Given the description of an element on the screen output the (x, y) to click on. 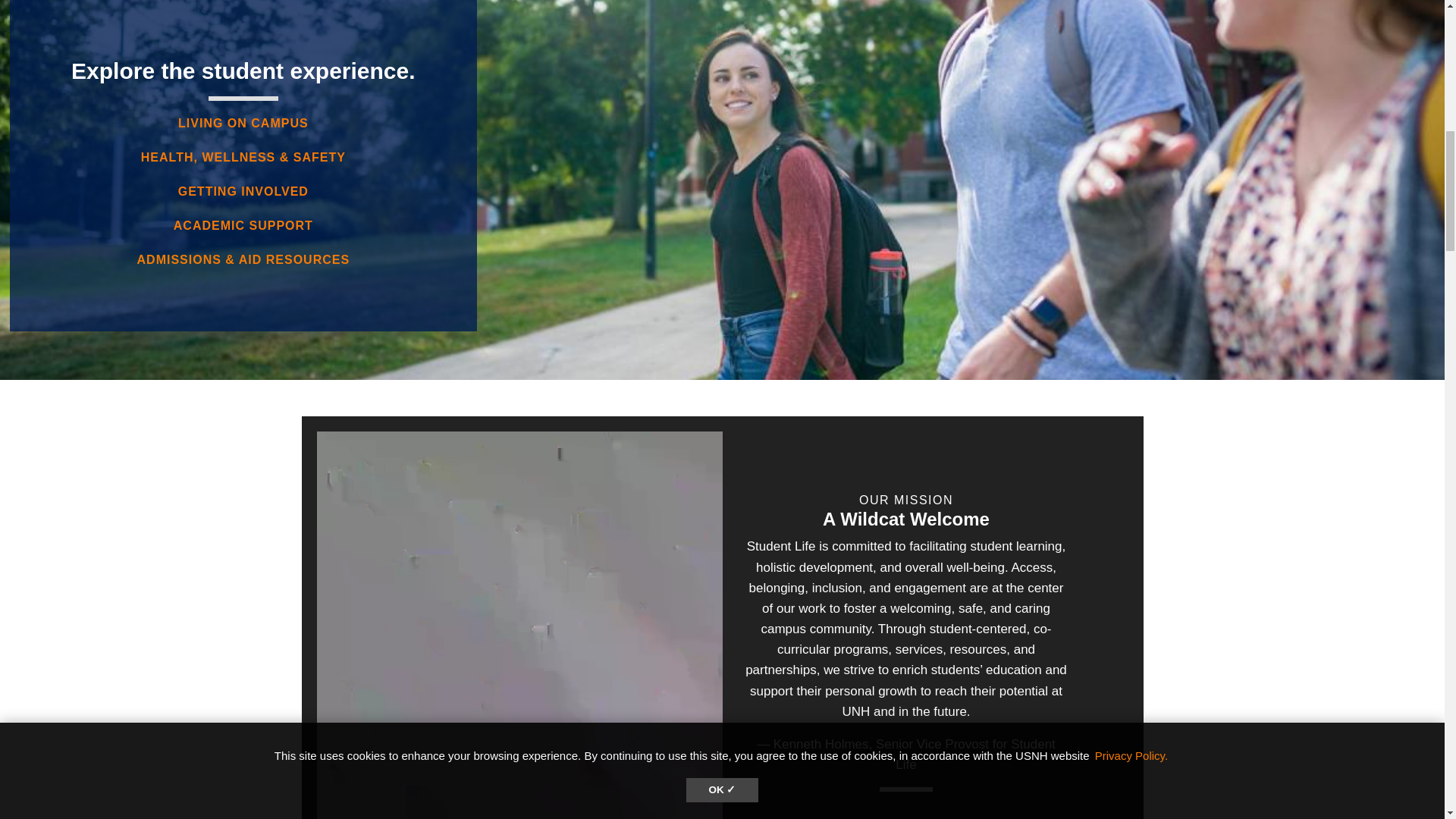
Students (242, 123)
Students (242, 191)
Students (243, 156)
Students (243, 225)
Students (243, 259)
GETTING INVOLVED (242, 191)
ACADEMIC SUPPORT (243, 225)
LIVING ON CAMPUS (242, 123)
